Given the description of an element on the screen output the (x, y) to click on. 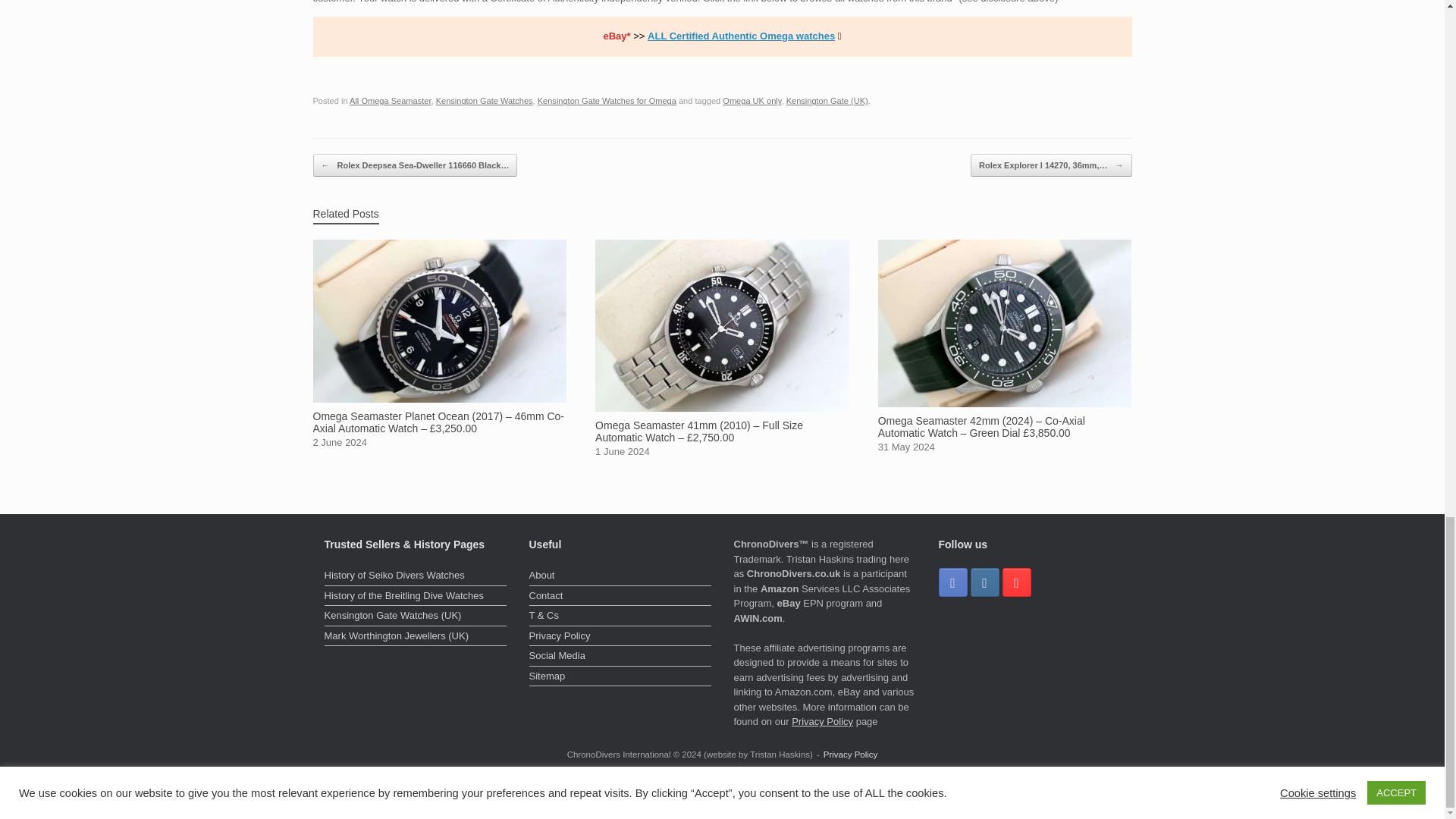
ChronoDivers International Instagram (984, 582)
ChronoDivers International Facebook (953, 582)
ChronoDivers International YouTube (1016, 582)
Verified by MonsterInsights (722, 798)
